Given the description of an element on the screen output the (x, y) to click on. 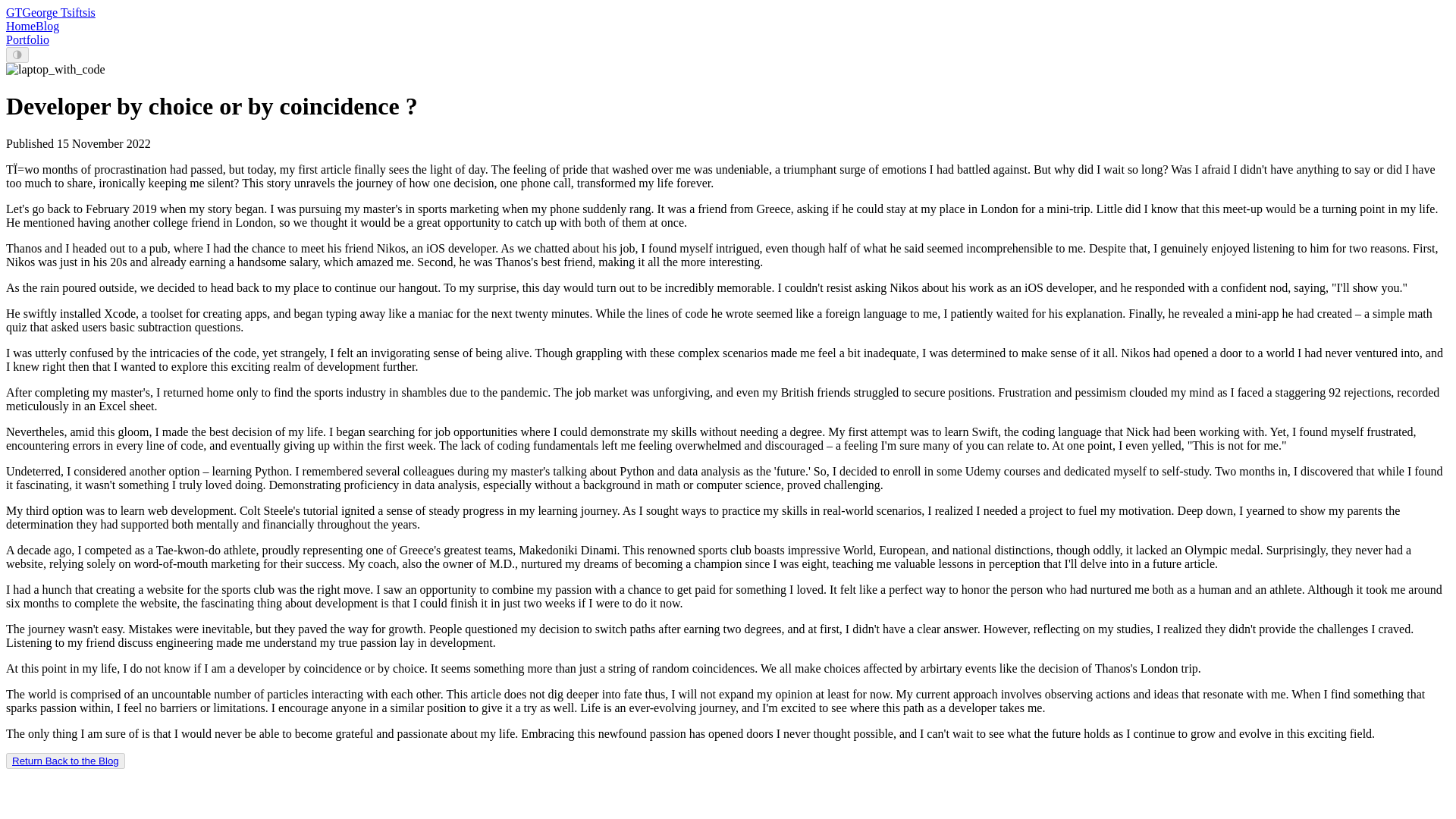
Home (19, 25)
Portfolio (27, 39)
GTGeorge Tsiftsis (50, 11)
